Given the description of an element on the screen output the (x, y) to click on. 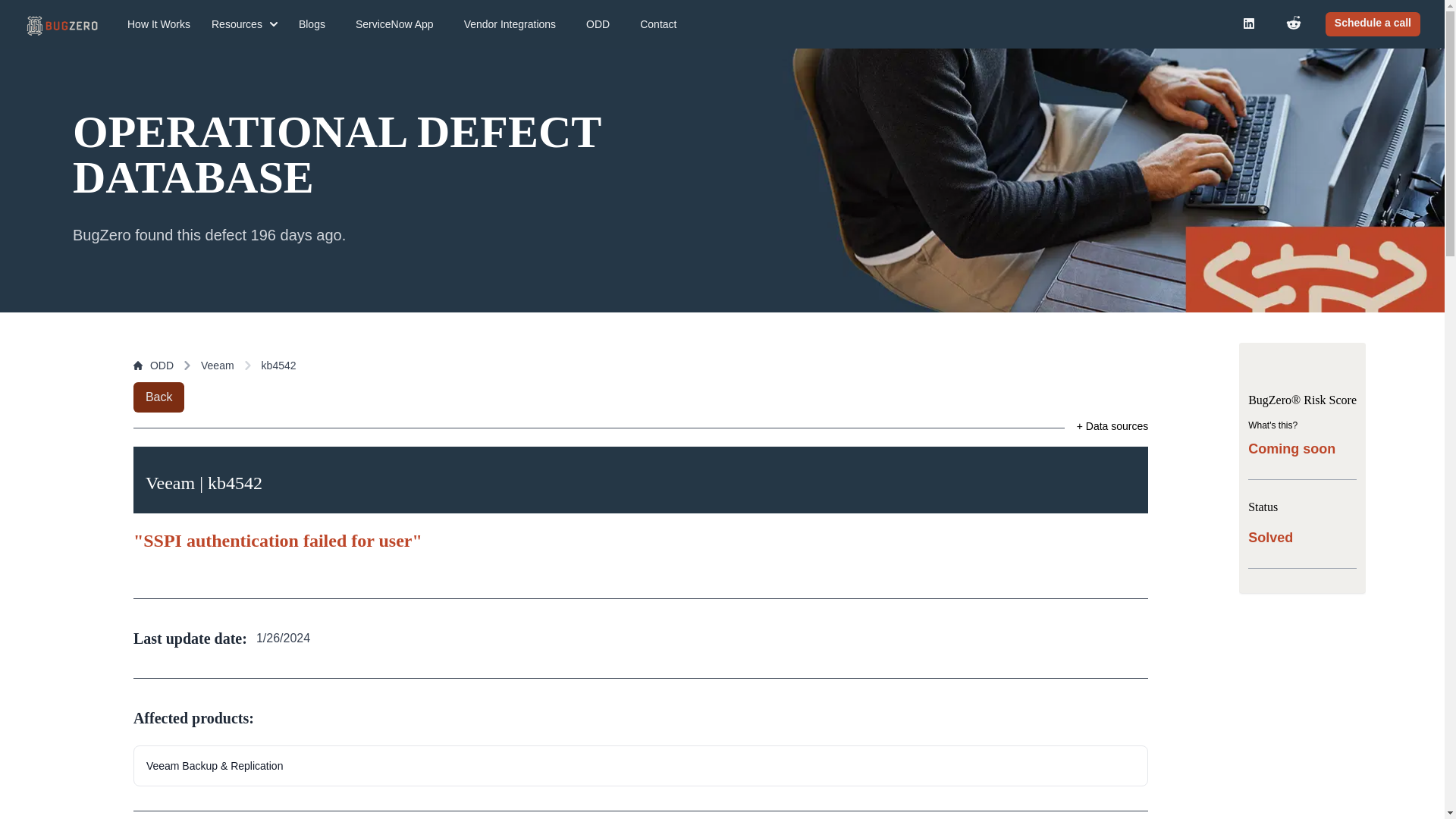
Blogs (311, 23)
Vendor Integrations (509, 23)
ODD (597, 23)
Veeam (217, 365)
Back (158, 397)
Contact (657, 23)
What's this? (1272, 425)
Schedule a call (1372, 24)
Resources (244, 23)
ODD (153, 365)
How It Works (158, 23)
ServiceNow App (394, 23)
